Given the description of an element on the screen output the (x, y) to click on. 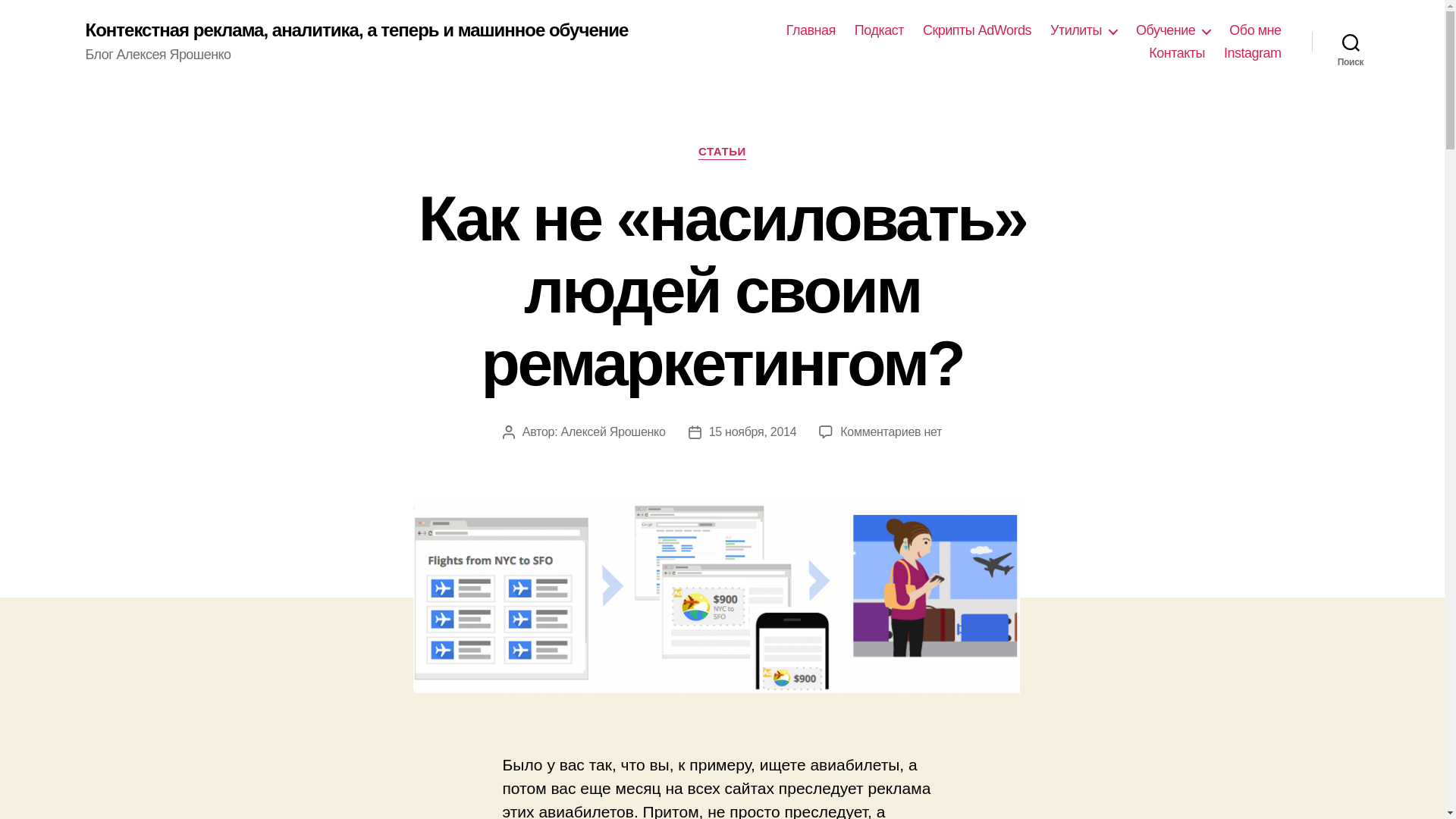
Instagram Element type: text (1252, 53)
